Given the description of an element on the screen output the (x, y) to click on. 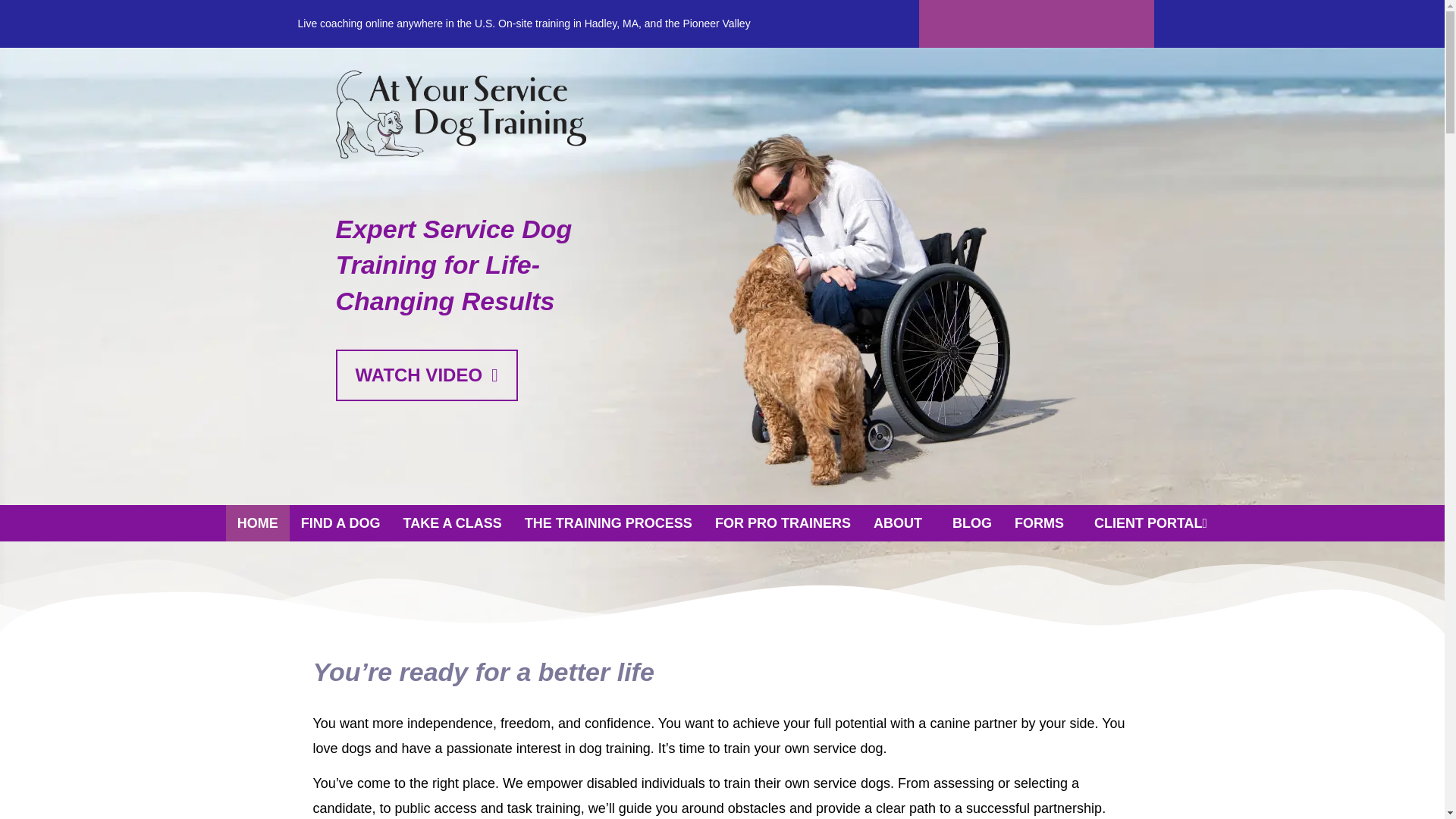
HOME (257, 523)
ABOUT (900, 523)
FIND A DOG (340, 523)
THE TRAINING PROCESS (608, 523)
CLIENT PORTAL (1150, 523)
FORMS (1043, 523)
WATCH VIDEO (425, 375)
BLOG (971, 523)
TAKE A CLASS (452, 523)
FOR PRO TRAINERS (782, 523)
